Given the description of an element on the screen output the (x, y) to click on. 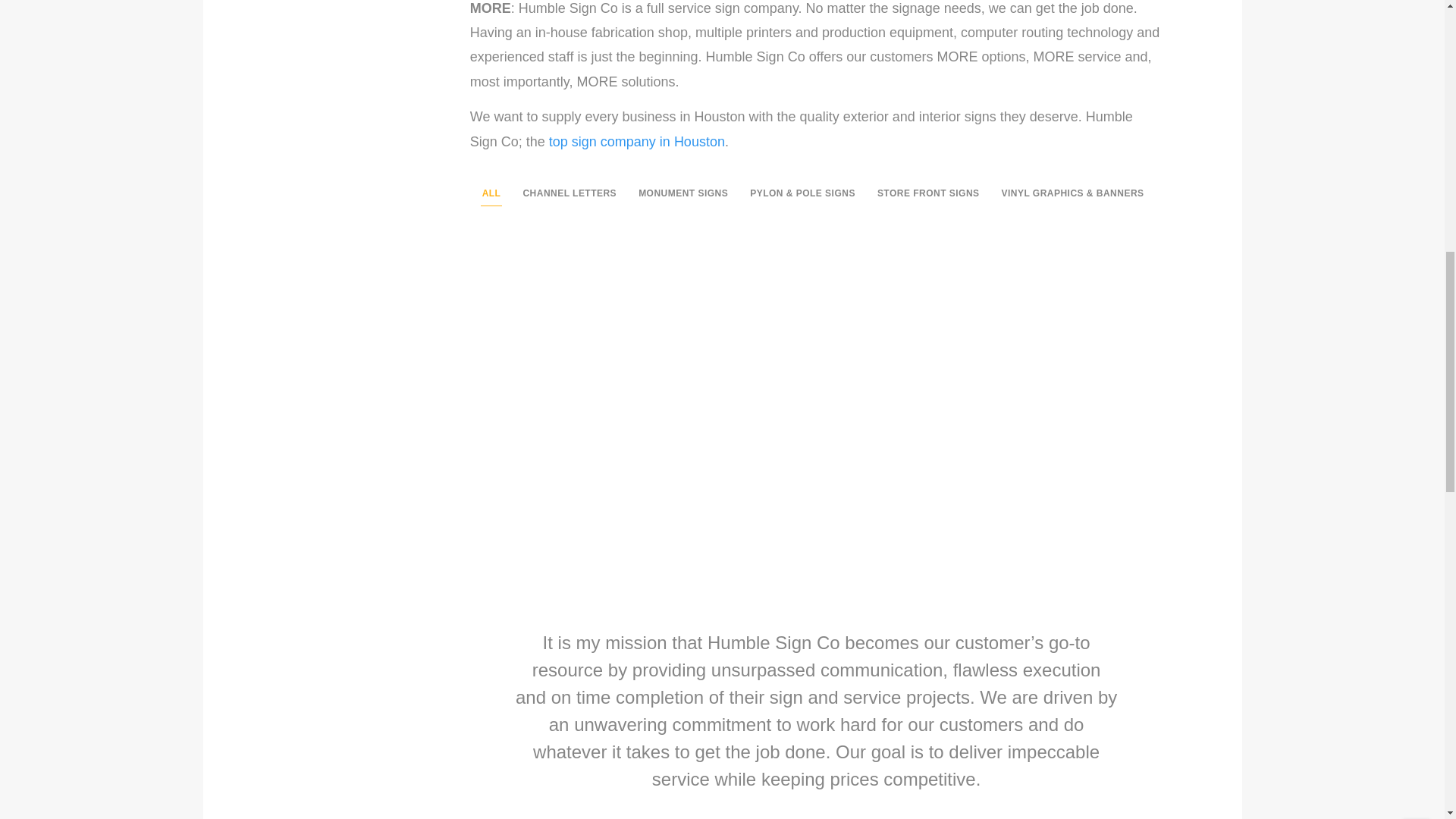
CHANNEL LETTERS (569, 193)
MONUMENT SIGNS (682, 193)
ALL (492, 193)
top sign company in Houston (636, 141)
